Given the description of an element on the screen output the (x, y) to click on. 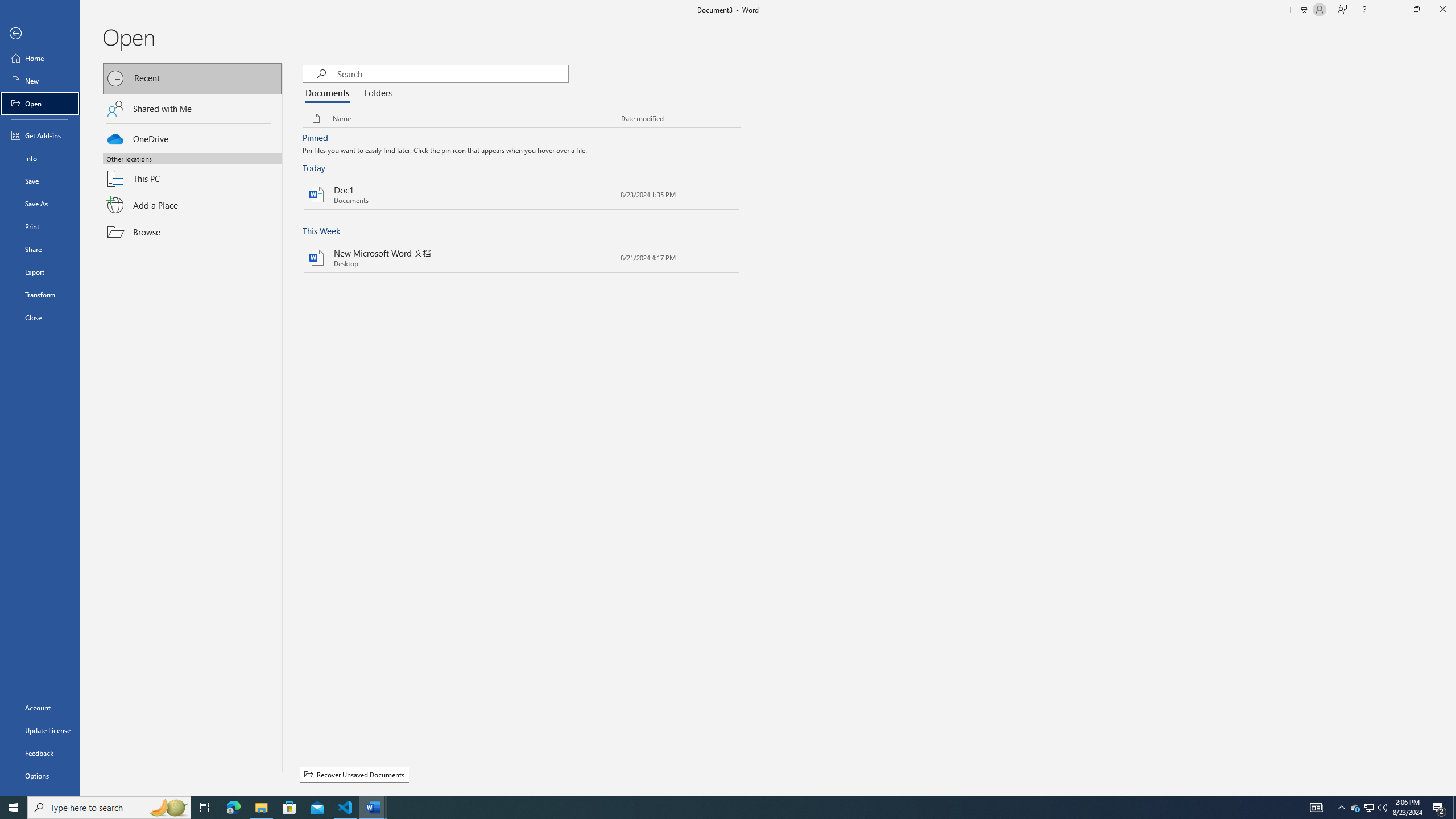
Doc1 (521, 194)
Update License (40, 730)
Add a Place (192, 204)
Feedback (40, 753)
Documents (329, 93)
